Given the description of an element on the screen output the (x, y) to click on. 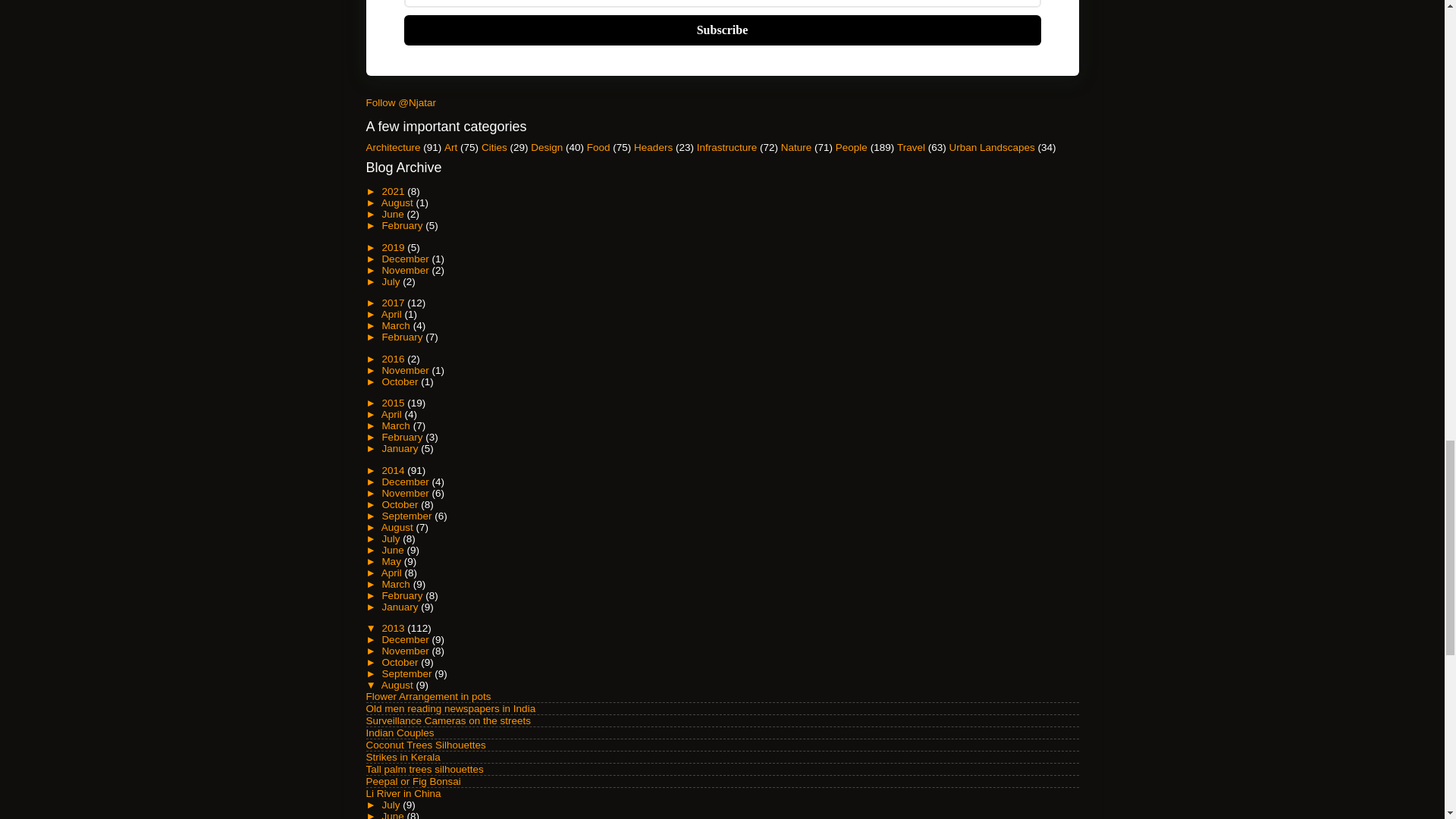
Art (450, 147)
Headers (652, 147)
Cities (493, 147)
Architecture (392, 147)
Food (598, 147)
Design (546, 147)
Subscribe (722, 30)
